Given the description of an element on the screen output the (x, y) to click on. 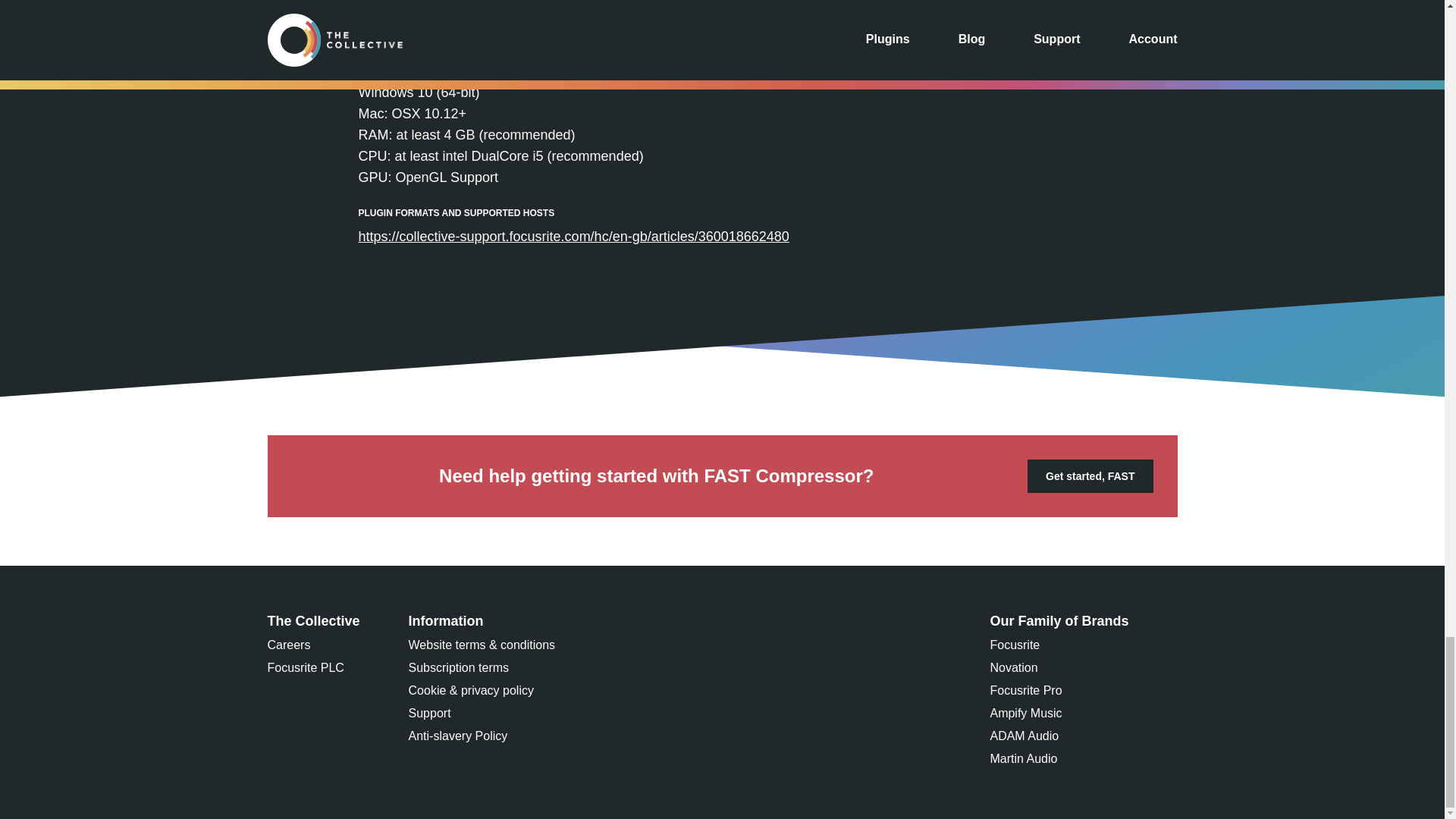
Get started, FAST (1090, 476)
Support (430, 715)
Martin Audio (1023, 761)
ADAM Audio (1024, 738)
Ampify Music (1025, 715)
Novation (1013, 669)
Focusrite Pro (1025, 692)
Careers (288, 647)
Subscription terms (459, 669)
Anti-slavery Policy (458, 738)
